Given the description of an element on the screen output the (x, y) to click on. 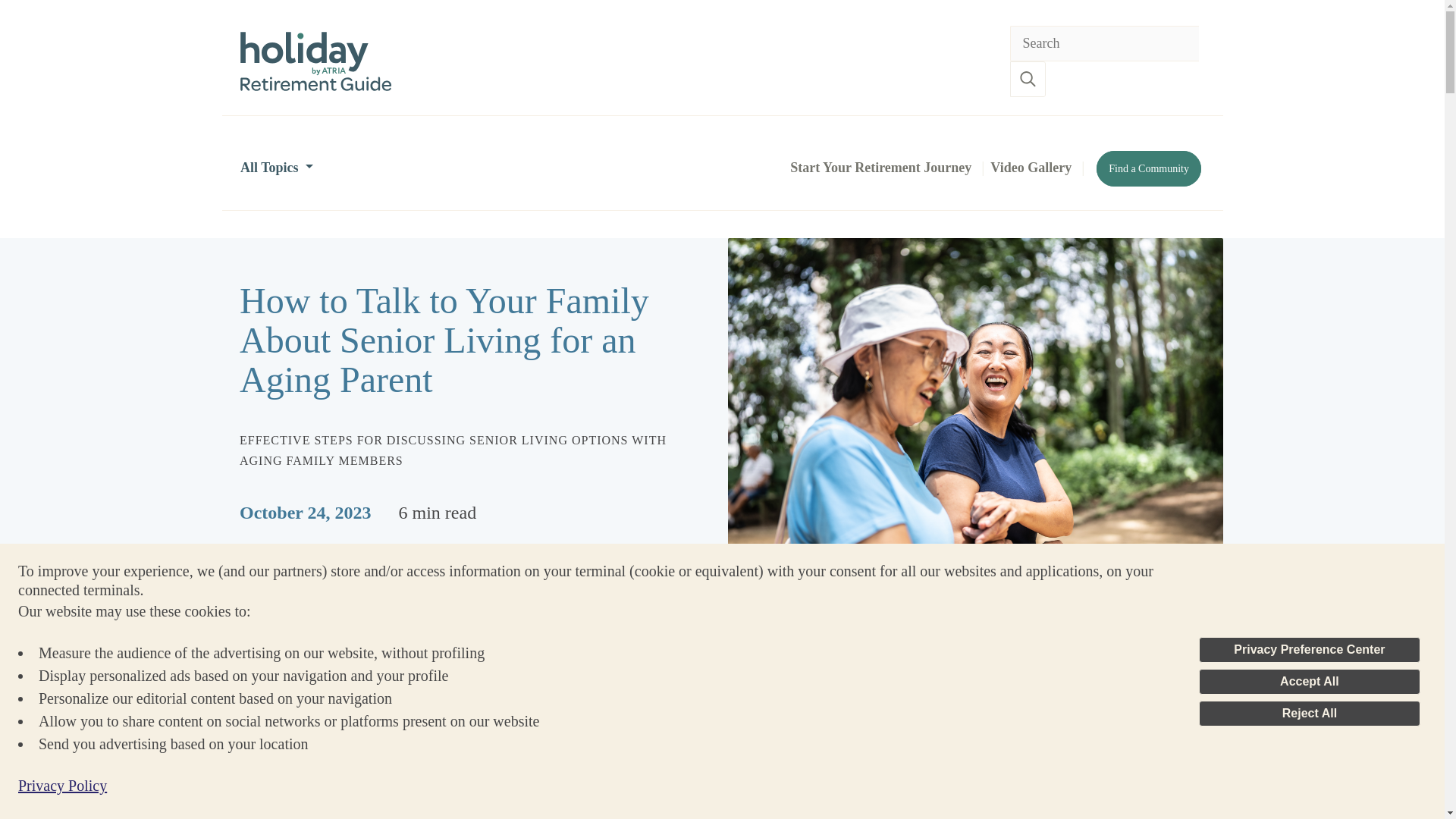
Reject All (1309, 713)
Find a Community (1148, 168)
Accept All (1309, 681)
4Q 2023 HBA How to Talk to Family about Senior Living Video (618, 794)
Privacy Policy (61, 784)
Video Gallery (1030, 167)
Privacy Preference Center (1309, 649)
Start Your Retirement Journey (880, 167)
All Topics (276, 167)
